Given the description of an element on the screen output the (x, y) to click on. 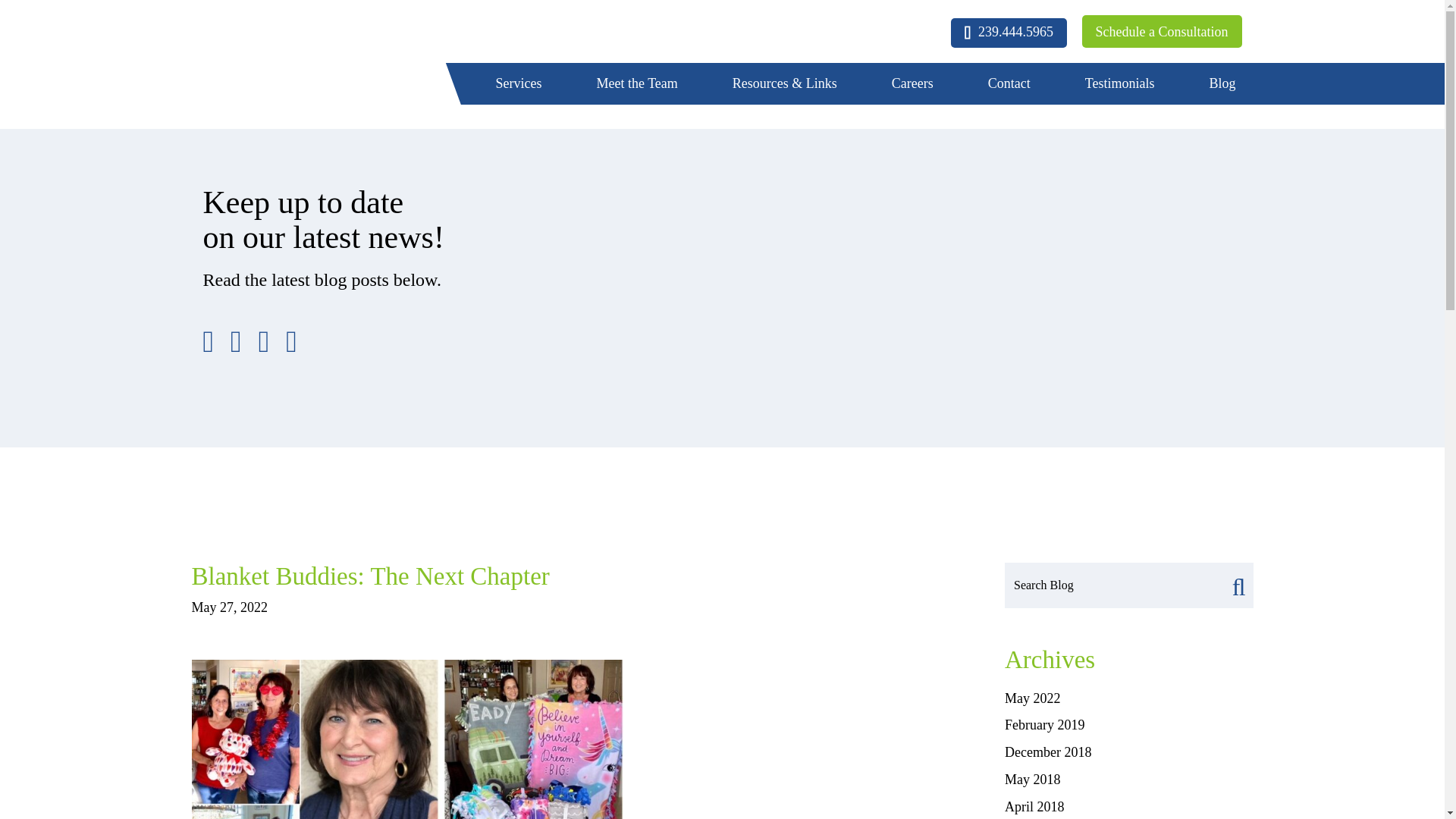
Meet the Team (636, 84)
Careers (912, 84)
Blog (1222, 84)
Services (518, 84)
239.444.5965 (1008, 32)
May 2022 (1032, 698)
Testimonials (1120, 84)
Schedule a Consultation (1161, 31)
December 2018 (1047, 752)
April 2018 (1034, 806)
